Given the description of an element on the screen output the (x, y) to click on. 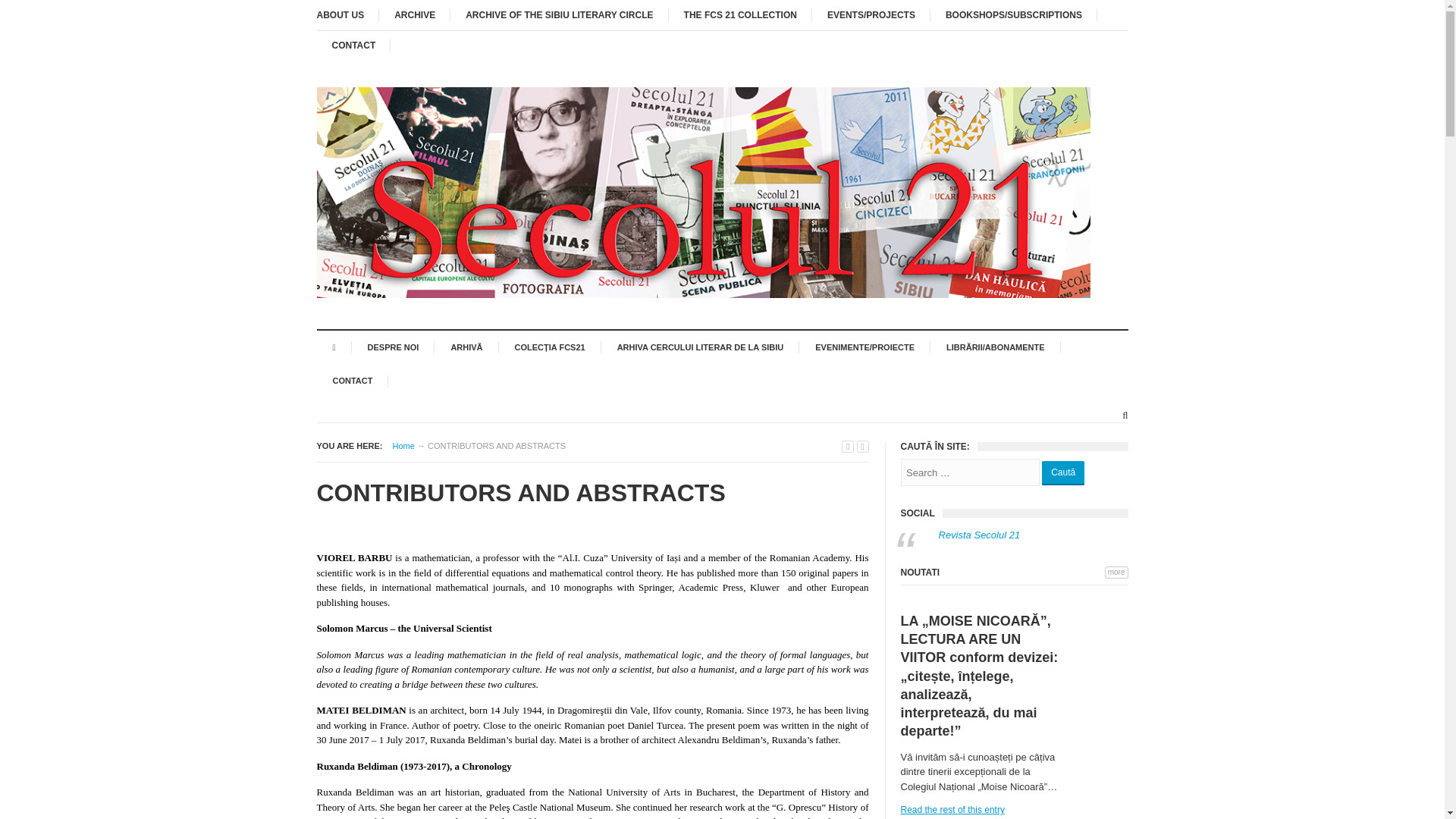
ARCHIVE (413, 15)
ARCHIVE OF THE SIBIU LITERARY CIRCLE (558, 15)
CONTACT (354, 45)
THE FCS 21 COLLECTION (740, 15)
ARHIVA CERCULUI LITERAR DE LA SIBIU (699, 347)
ABOUT US (348, 15)
NOUTATI (920, 572)
Revista Secolul 21 (979, 534)
CONTACT (352, 380)
more (1116, 572)
